Given the description of an element on the screen output the (x, y) to click on. 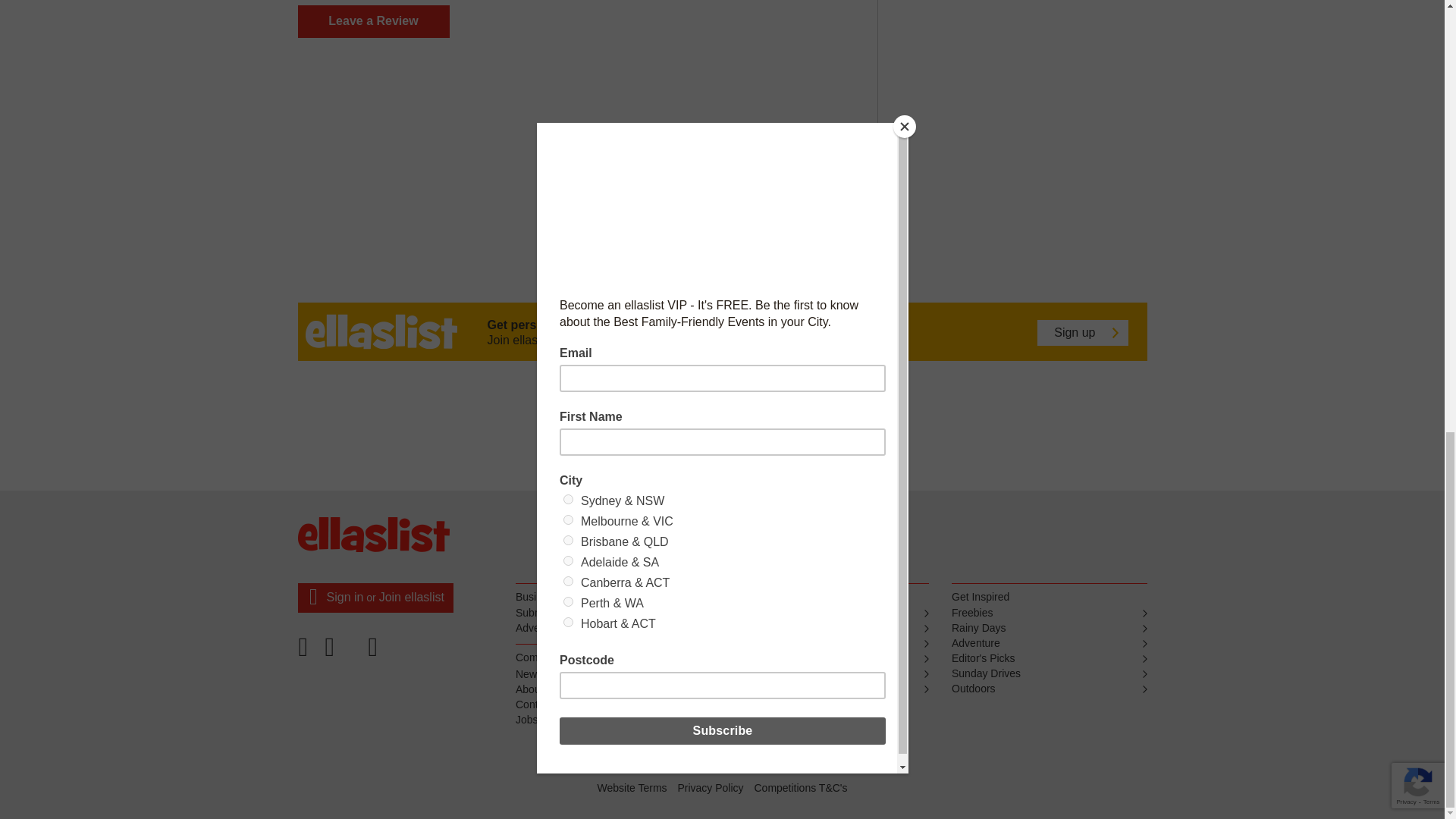
Submit an Event (613, 613)
About Us (613, 689)
Pinterest (341, 652)
Leave a Review (372, 20)
Facebook (306, 652)
Instagram (375, 652)
Leave a Review (372, 20)
Parties (831, 613)
Join ellaslist (411, 596)
Kids Classes (831, 628)
Advertise (613, 628)
Contact Us (613, 704)
Fitness (831, 643)
Sign in (344, 596)
Jobs at ellaslist (613, 720)
